Given the description of an element on the screen output the (x, y) to click on. 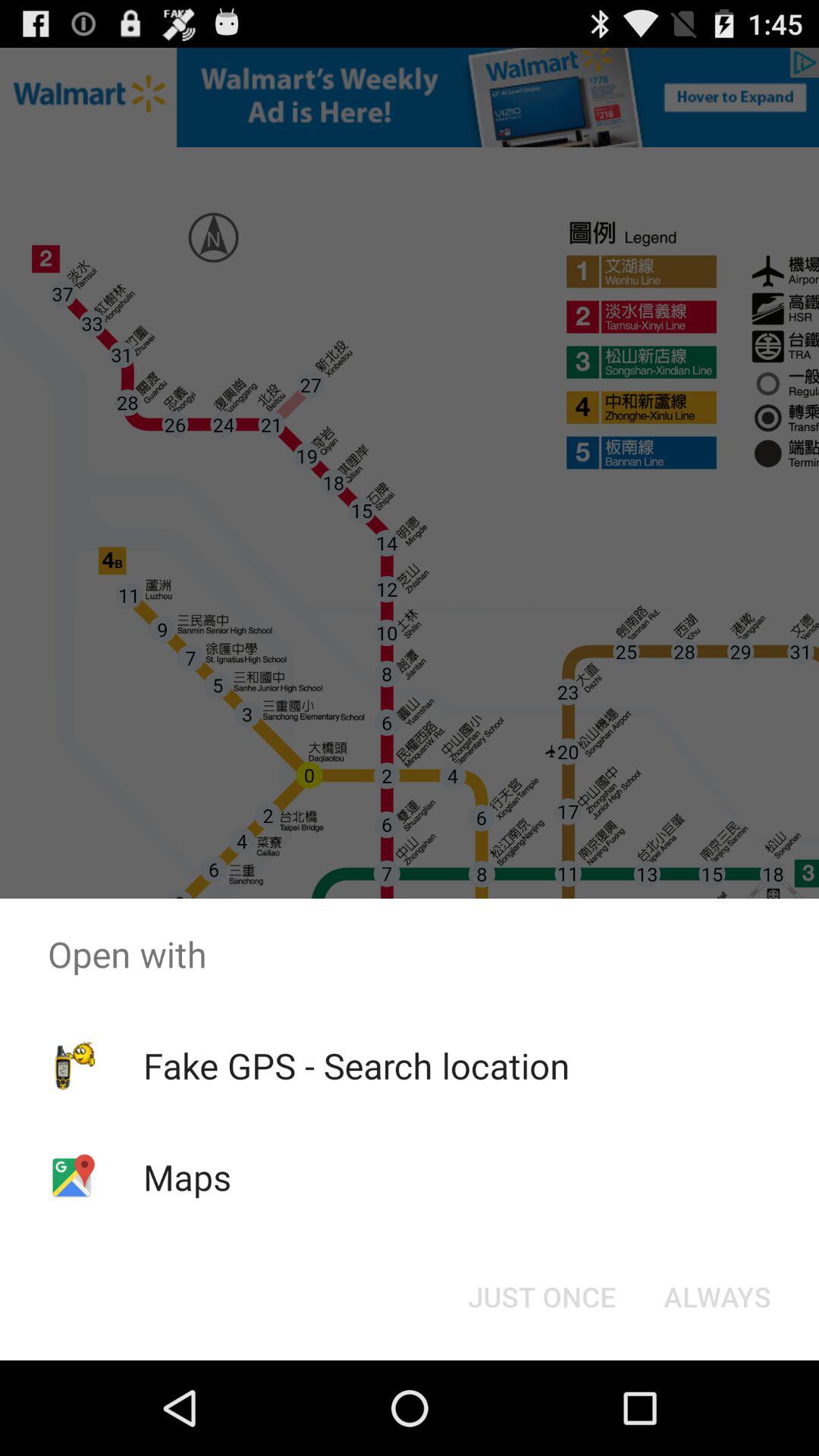
click icon next to the just once button (717, 1296)
